Given the description of an element on the screen output the (x, y) to click on. 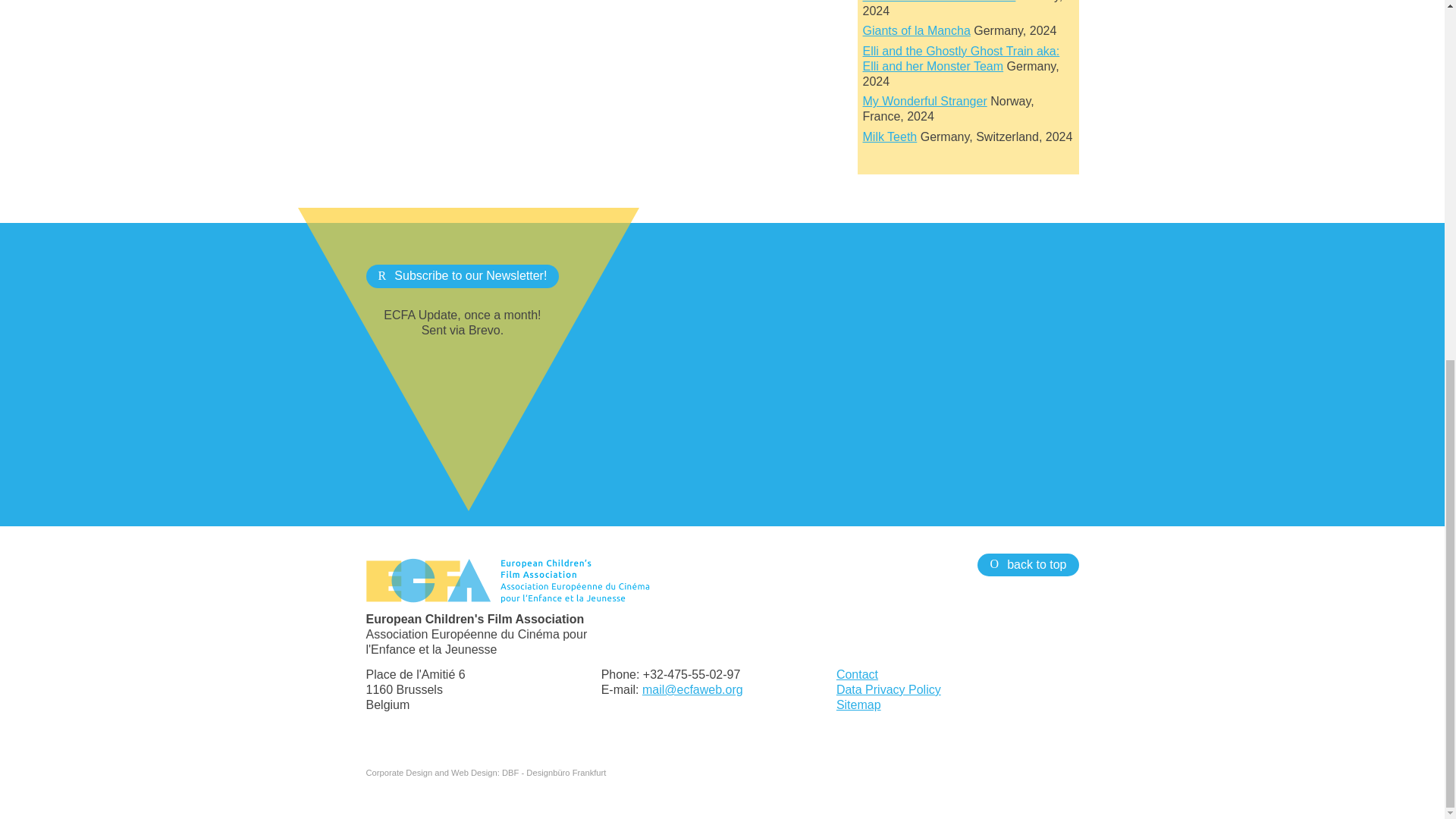
Click for further information! (917, 30)
Click for further information! (890, 136)
Click for further information! (961, 58)
Click for further information! (939, 1)
Click for further information! (925, 101)
